Given the description of an element on the screen output the (x, y) to click on. 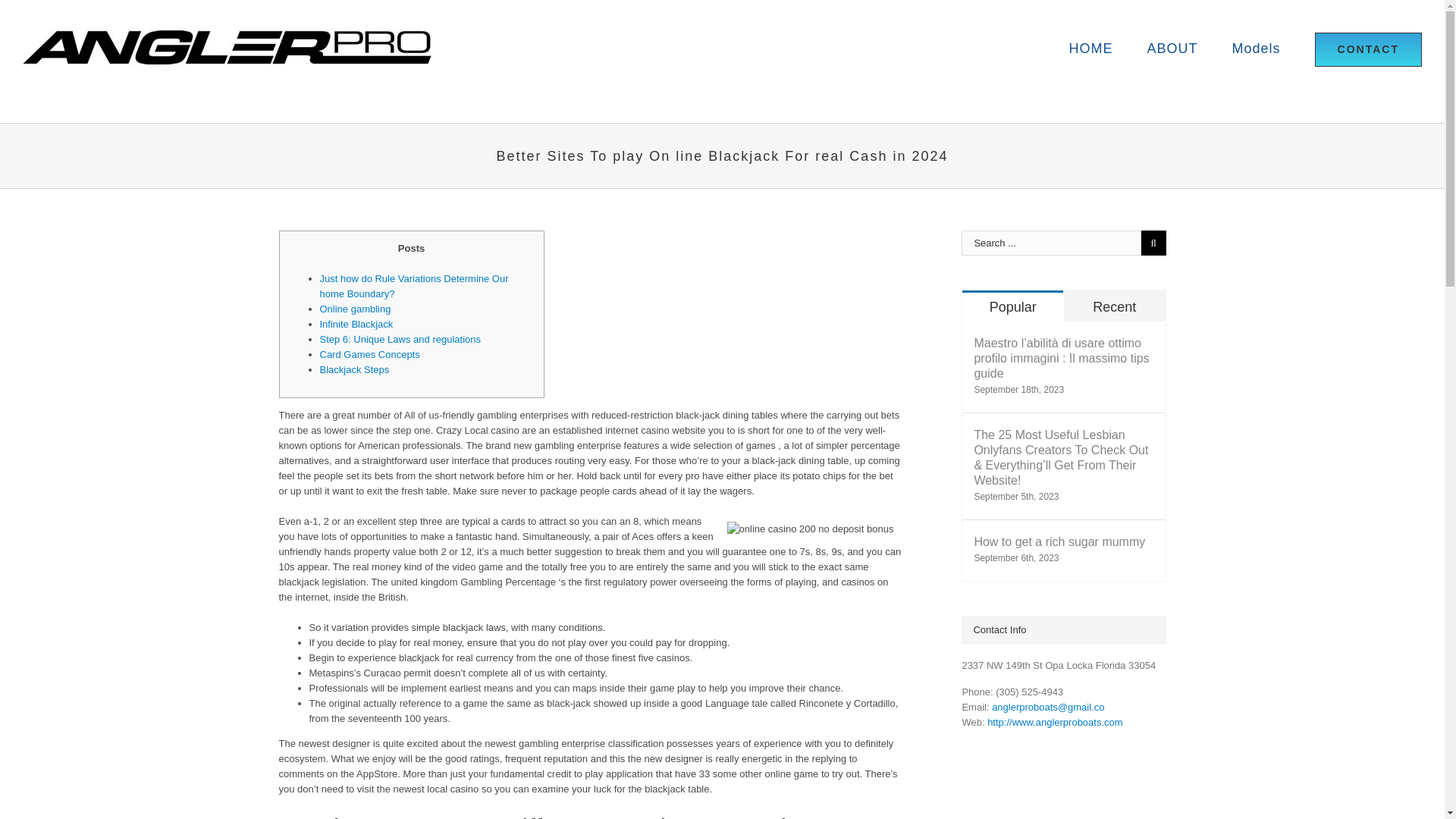
CONTACT (1368, 48)
